Given the description of an element on the screen output the (x, y) to click on. 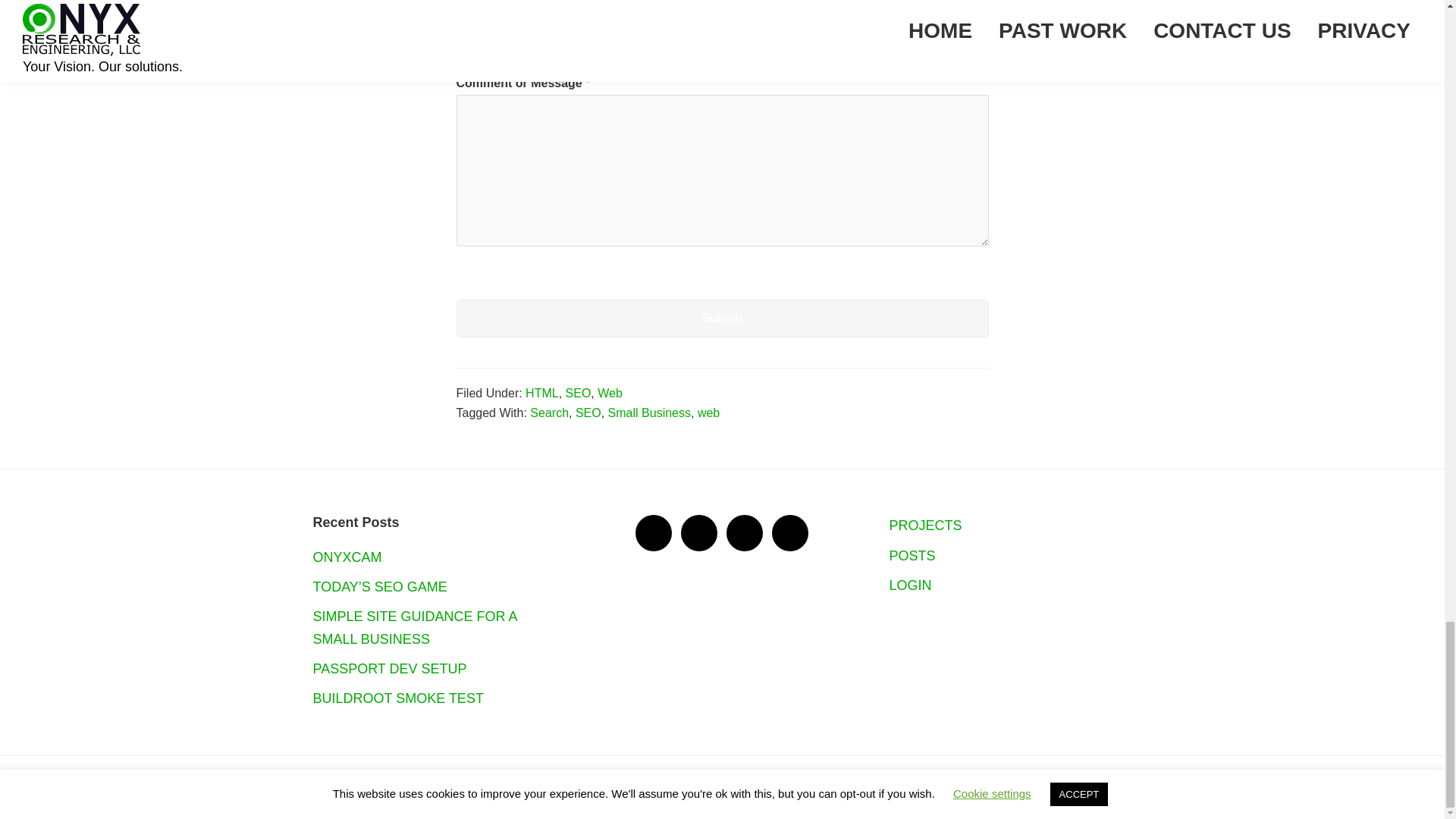
LOGIN (909, 585)
SEO (588, 412)
PASSPORT DEV SETUP (389, 668)
SEO (578, 392)
Web (609, 392)
Submit (722, 318)
SIMPLE SITE GUIDANCE FOR A SMALL BUSINESS (414, 627)
PROJECTS (924, 525)
HTML (542, 392)
ONYXCAM (347, 557)
Small Business (649, 412)
web (708, 412)
BUILDROOT SMOKE TEST (398, 698)
Search (549, 412)
POSTS (911, 555)
